Given the description of an element on the screen output the (x, y) to click on. 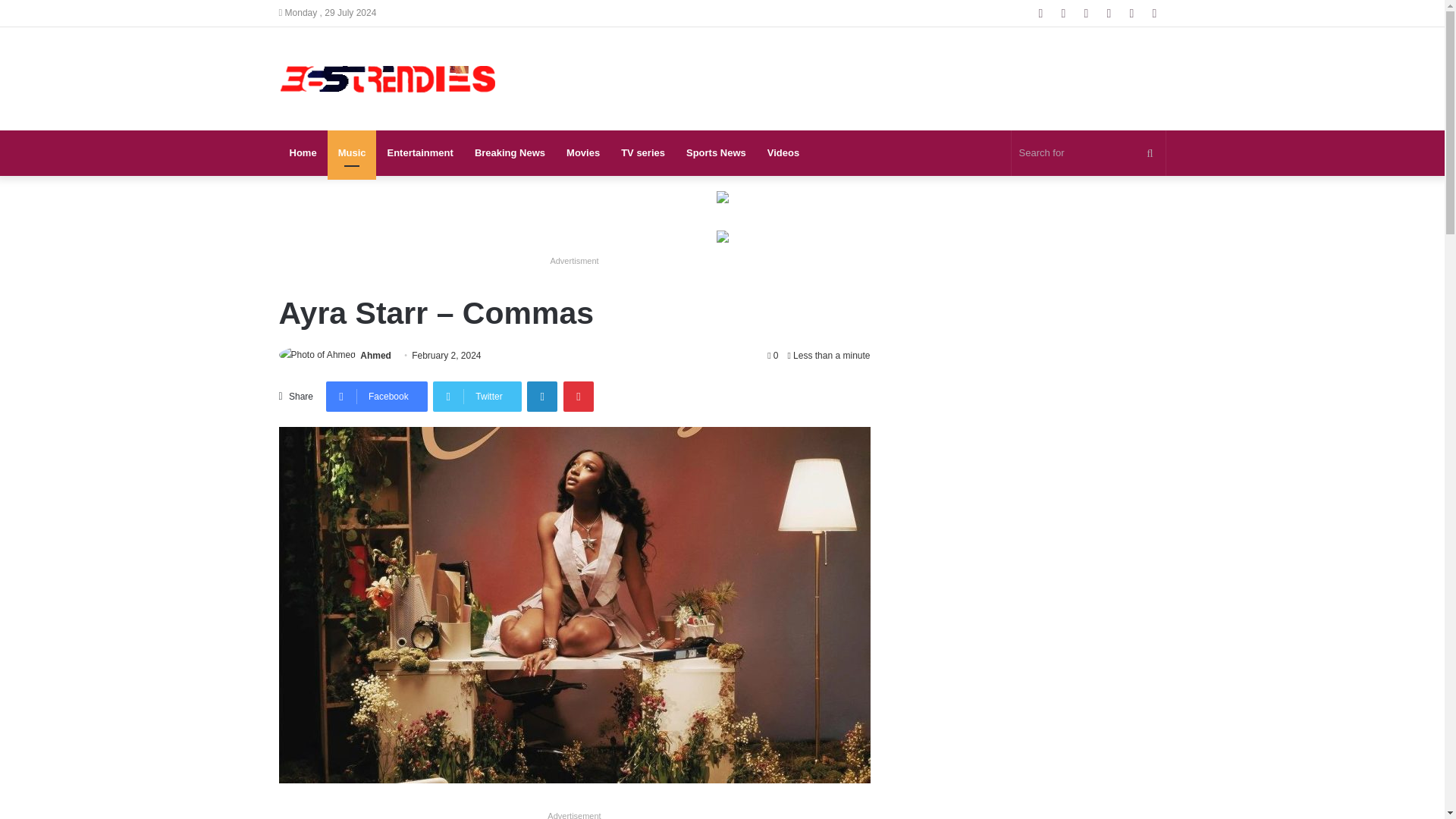
Pinterest (578, 396)
Pinterest (578, 396)
Entertainment (419, 153)
Facebook (377, 396)
TV series (642, 153)
Home (303, 153)
Facebook (377, 396)
Videos (783, 153)
Movies (583, 153)
Sports News (716, 153)
Twitter (476, 396)
Breaking News (510, 153)
Ahmed (375, 355)
Ahmed (375, 355)
LinkedIn (542, 396)
